Given the description of an element on the screen output the (x, y) to click on. 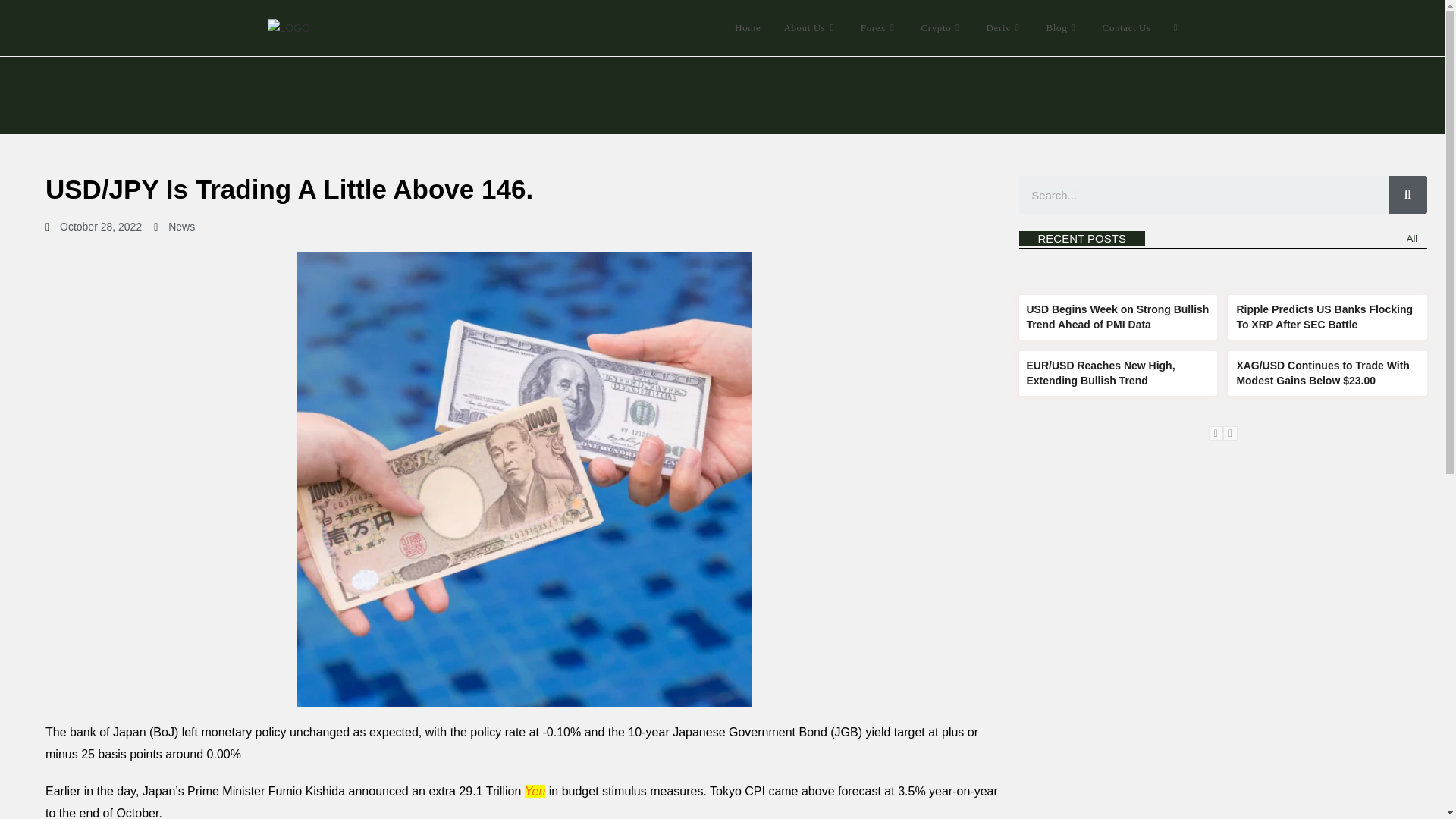
Deriv (1005, 28)
Contact Us (1125, 28)
Crypto (942, 28)
About Us (809, 28)
Forex (879, 28)
Search (1407, 194)
Search (1204, 194)
Blog (1062, 28)
